Given the description of an element on the screen output the (x, y) to click on. 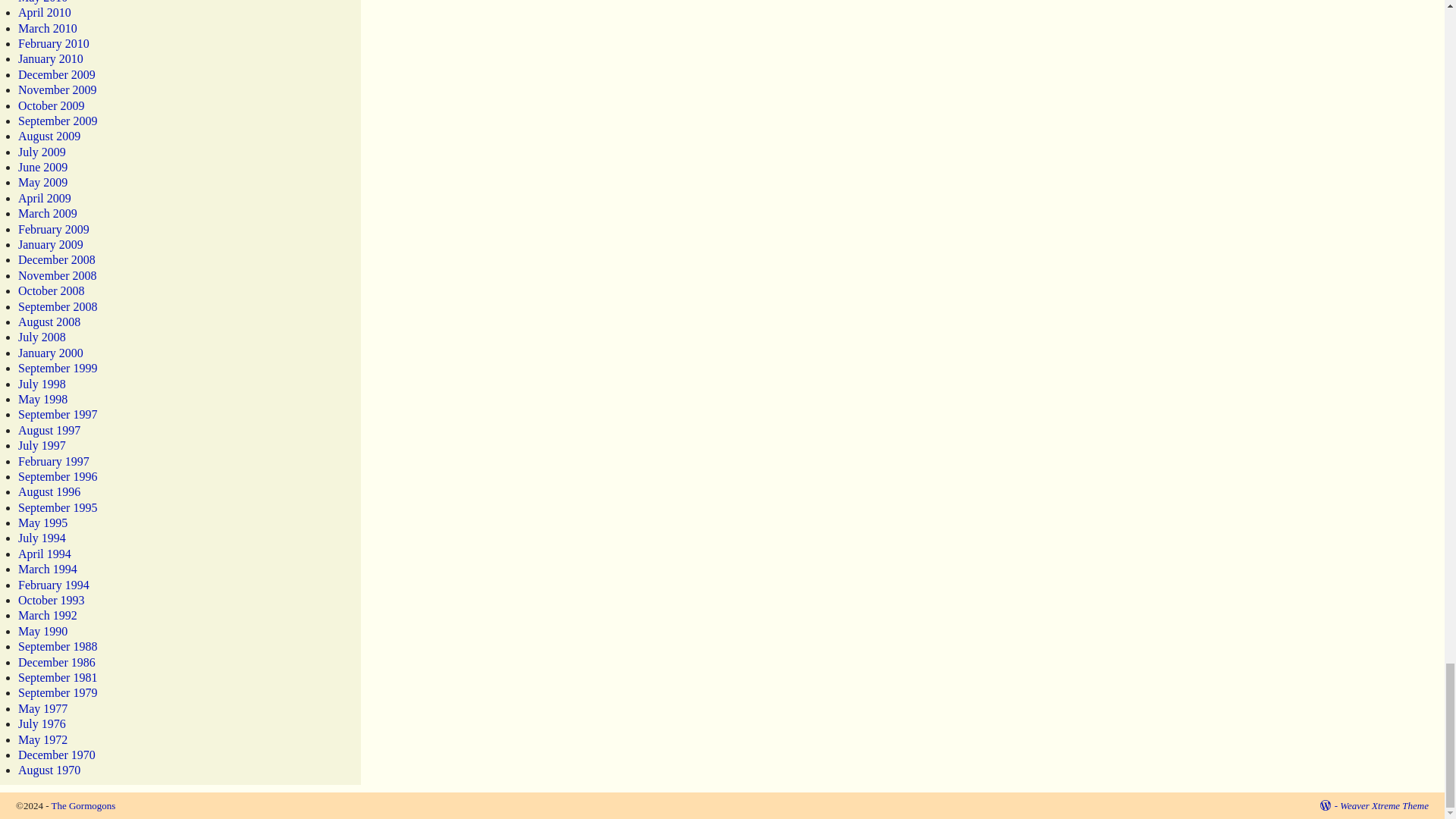
Weaver Xtreme Theme (1383, 805)
Proudly powered by WordPress (1329, 805)
The Gormogons (82, 805)
